Given the description of an element on the screen output the (x, y) to click on. 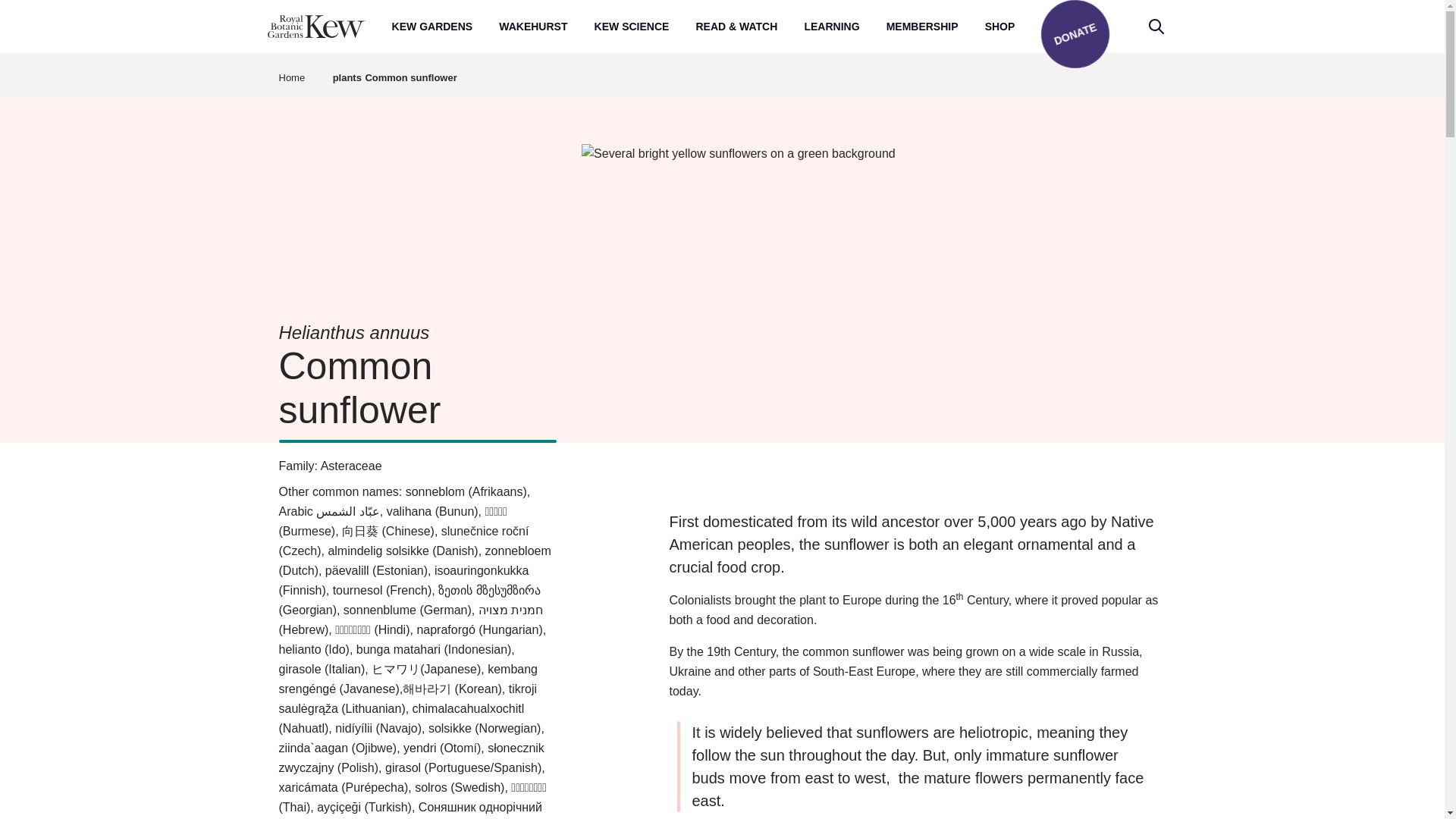
LEARNING (831, 26)
KEW SCIENCE (631, 26)
KEW GARDENS (432, 26)
WAKEHURST (533, 26)
Kew Science (631, 26)
Wakehurst (533, 26)
MEMBERSHIP (922, 26)
Kew Gardens (432, 26)
